Given the description of an element on the screen output the (x, y) to click on. 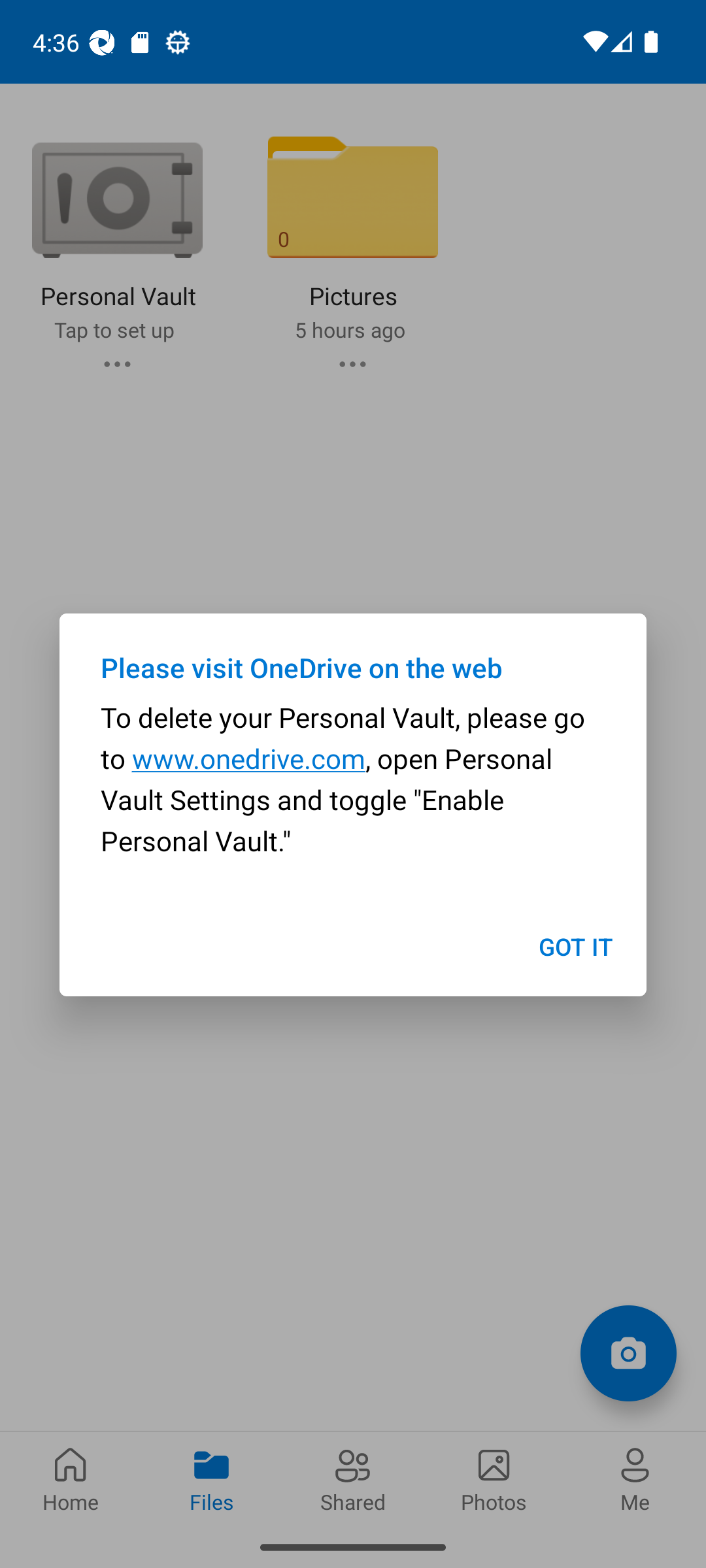
GOT IT (574, 946)
